Given the description of an element on the screen output the (x, y) to click on. 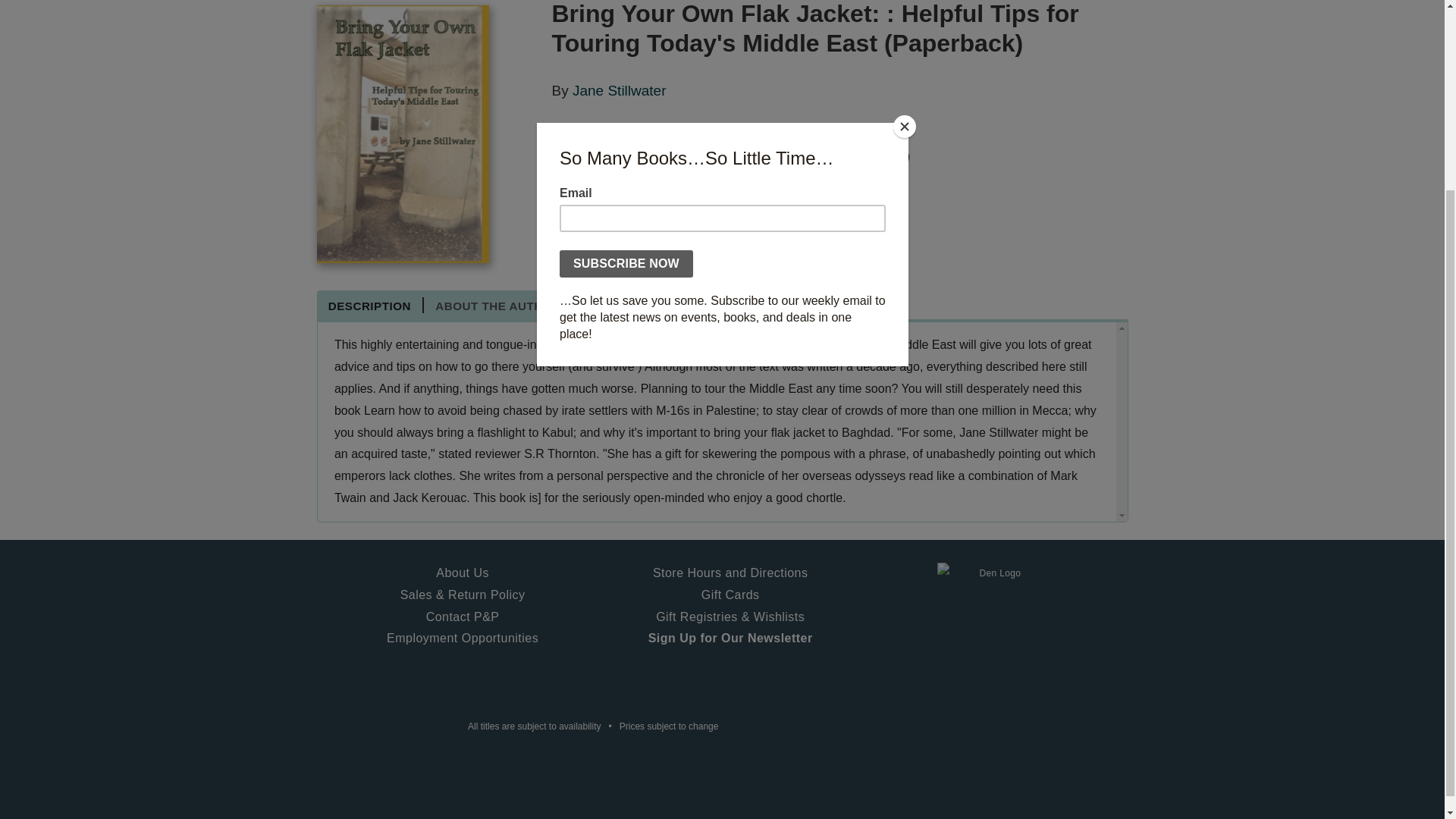
Add to Wish List (729, 191)
Add to Cart (605, 191)
